Given the description of an element on the screen output the (x, y) to click on. 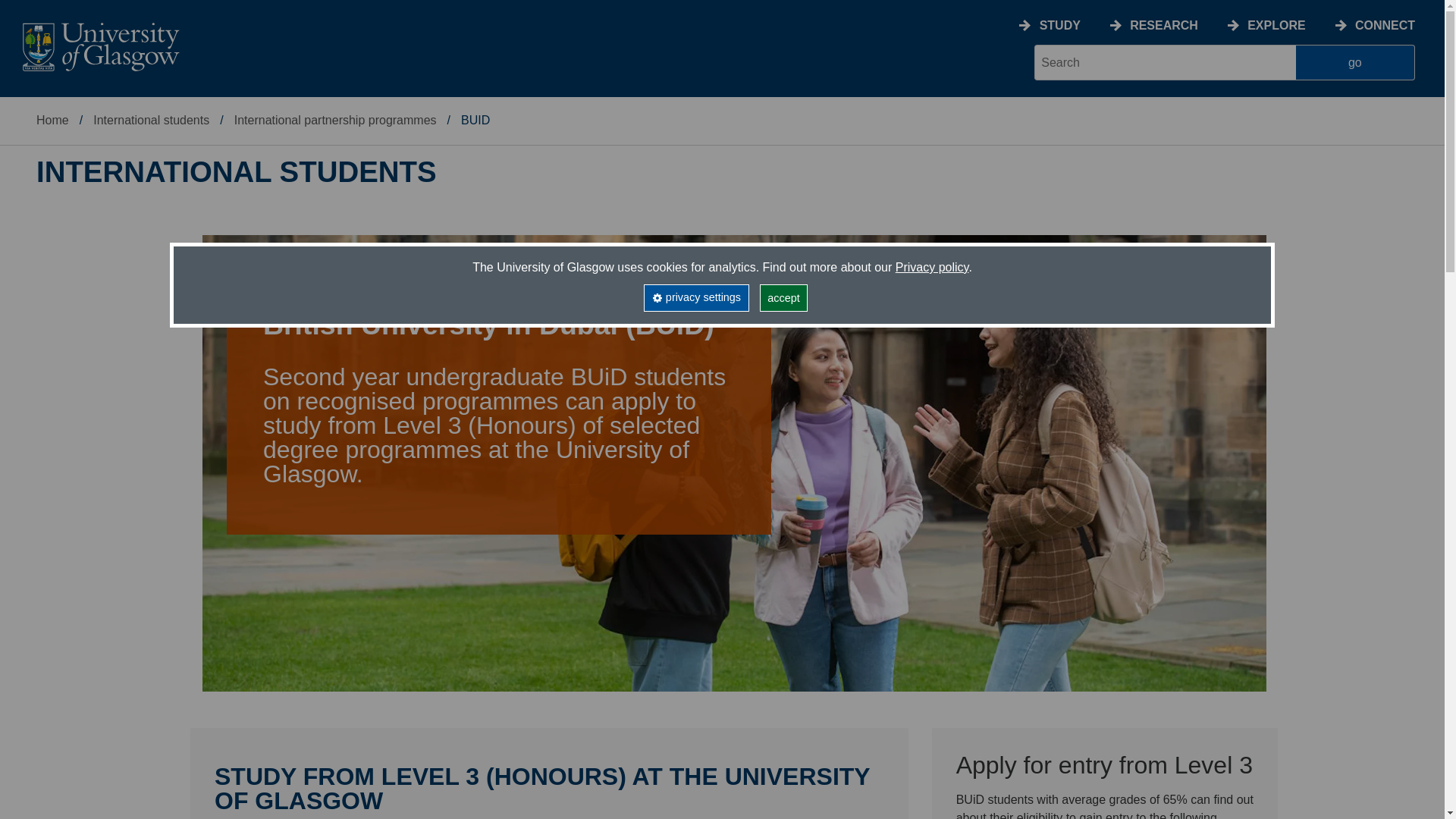
Home (52, 119)
go (1355, 62)
STUDY (1059, 24)
privacy settings (695, 298)
accept (784, 298)
International partnership programmes (335, 119)
CONNECT (1385, 24)
search (1164, 62)
go (1355, 62)
INTERNATIONAL STUDENTS (236, 172)
Privacy policy (932, 267)
EXPLORE (1275, 24)
International students (151, 119)
RESEARCH (1163, 24)
submit (1355, 62)
